Given the description of an element on the screen output the (x, y) to click on. 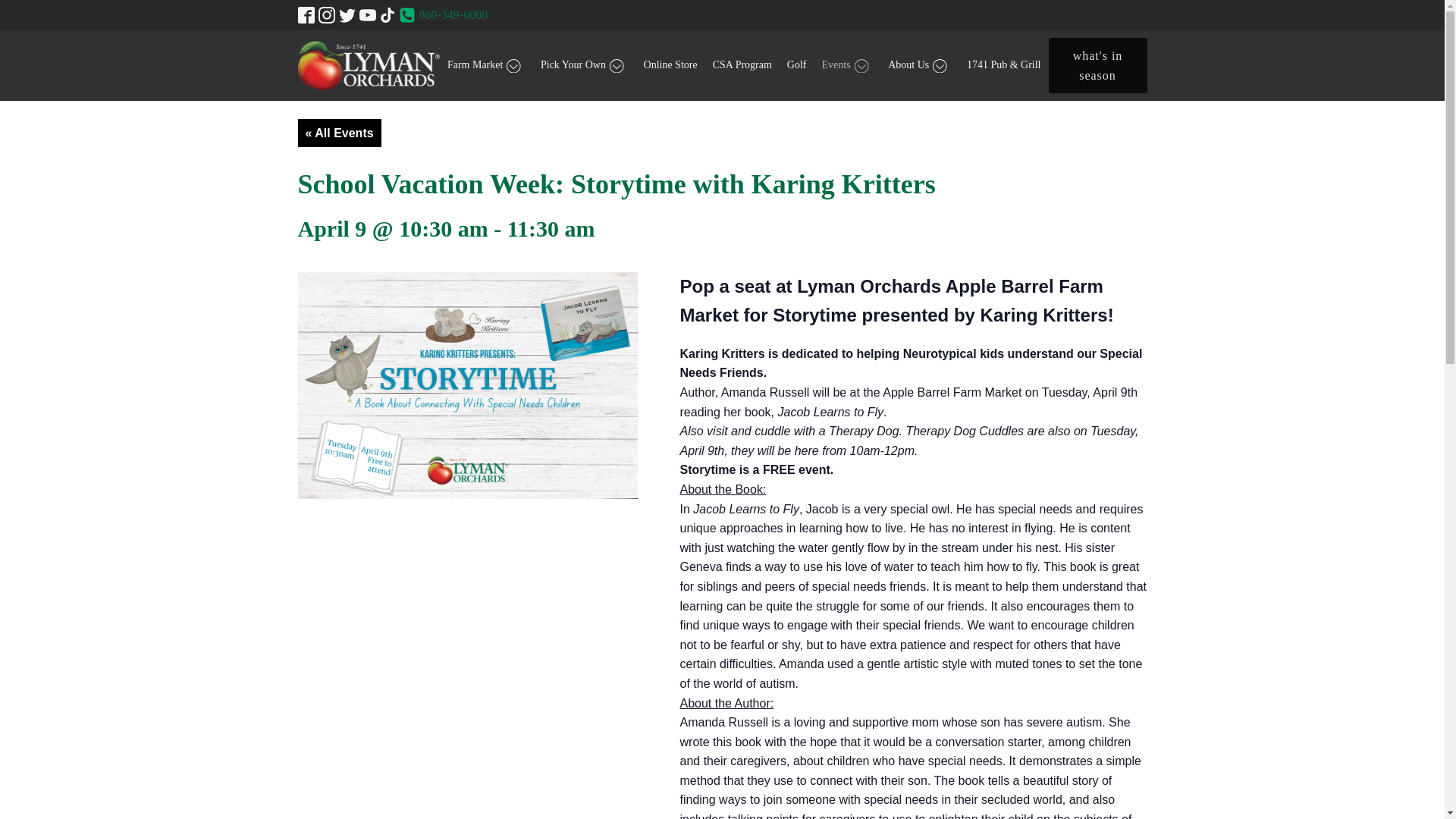
About Us (919, 65)
Events (846, 65)
Farm Market (485, 65)
860-349-6000 (453, 14)
Online Store (670, 65)
Pick Your Own (584, 65)
CSA Program (741, 65)
